Given the description of an element on the screen output the (x, y) to click on. 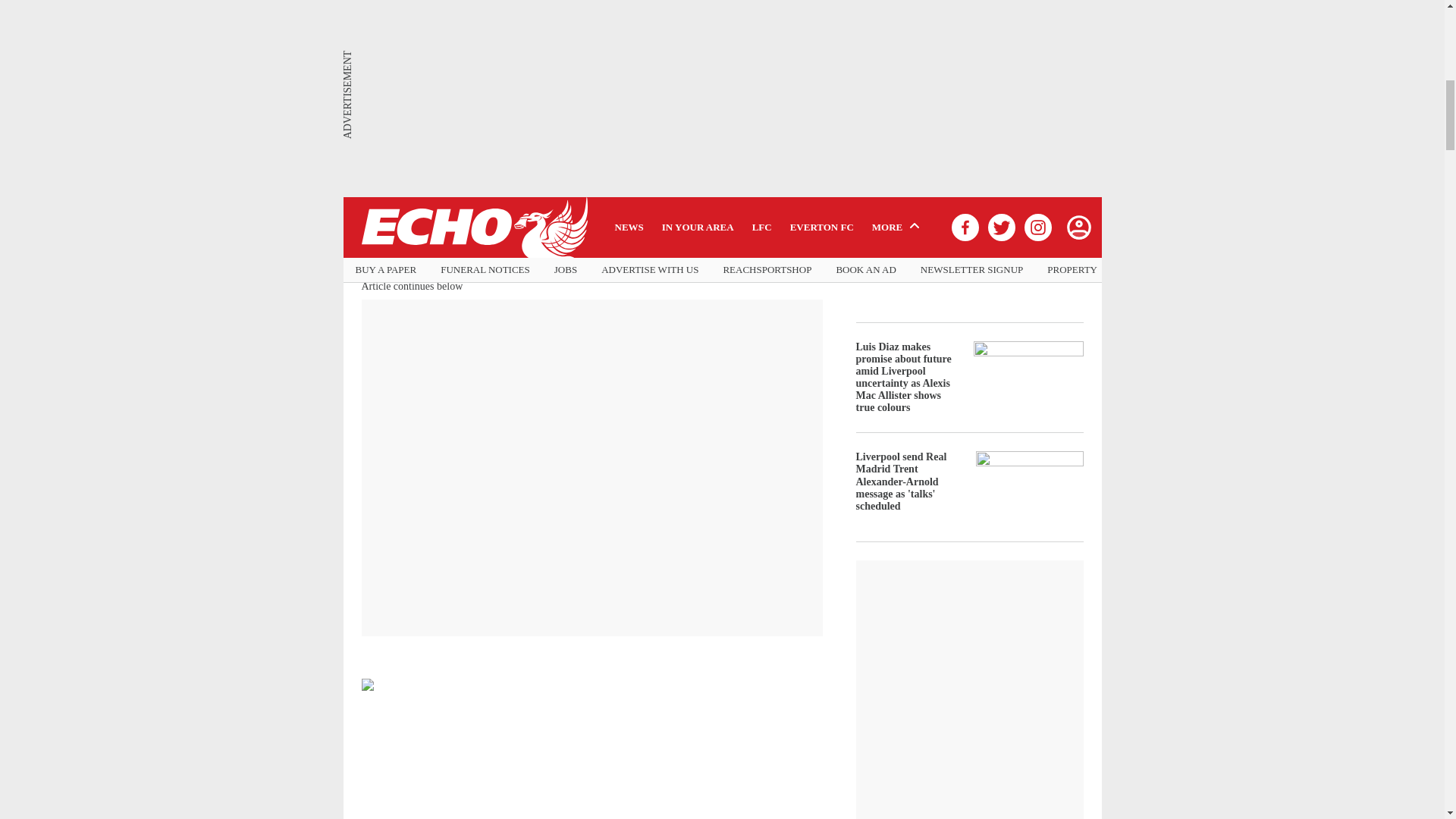
Liverpool (583, 132)
